Given the description of an element on the screen output the (x, y) to click on. 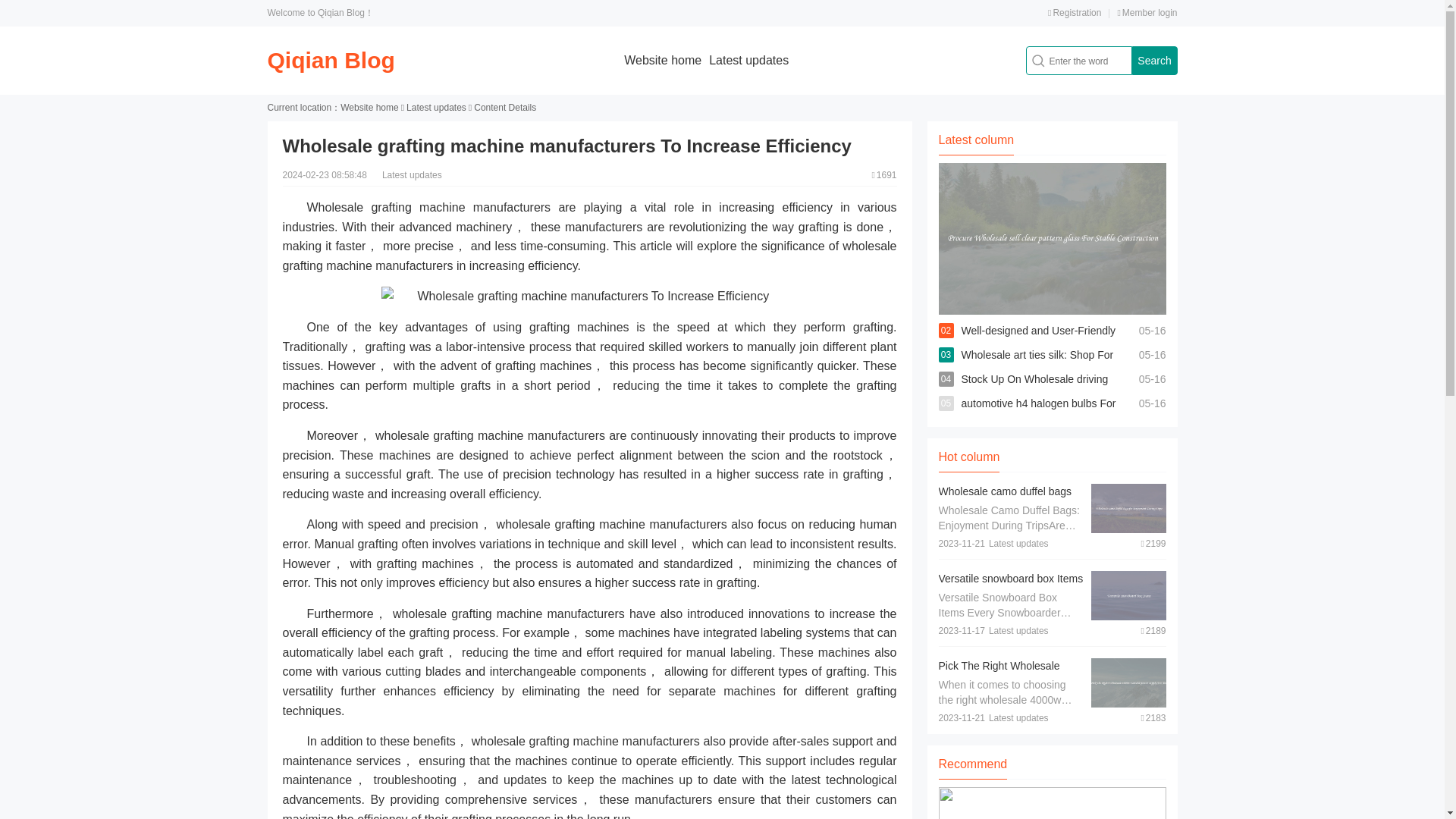
Website home (662, 60)
Latest updates (435, 107)
Wholesale camo duffel bags for Enjoyment During Trips (1005, 498)
Pick The Right Wholesale 4000w variable power supply For You (1007, 680)
Registration (1074, 12)
Qiqian Blog (330, 59)
Search (1153, 60)
Stock Up On Wholesale driving voltage stepper motor (1034, 391)
Website home (368, 107)
